Given the description of an element on the screen output the (x, y) to click on. 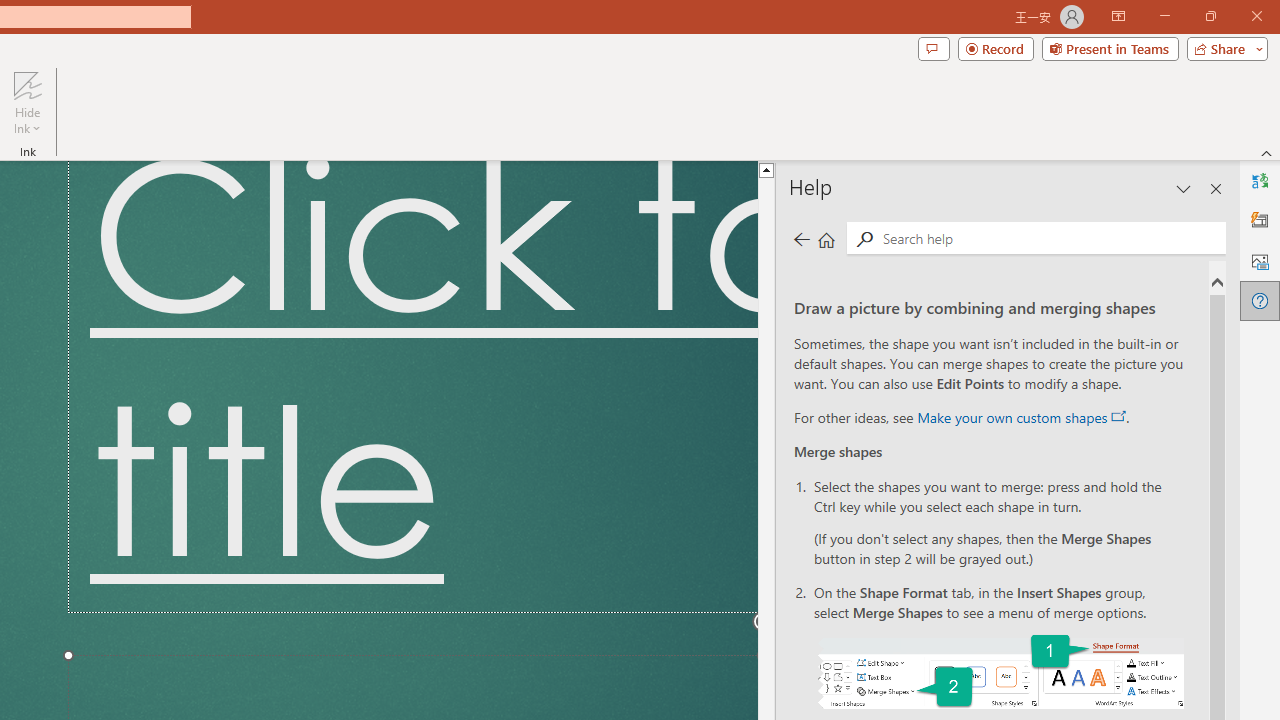
Hide Ink (27, 84)
openinnewwindow (1118, 416)
Hide Ink (27, 102)
